Given the description of an element on the screen output the (x, y) to click on. 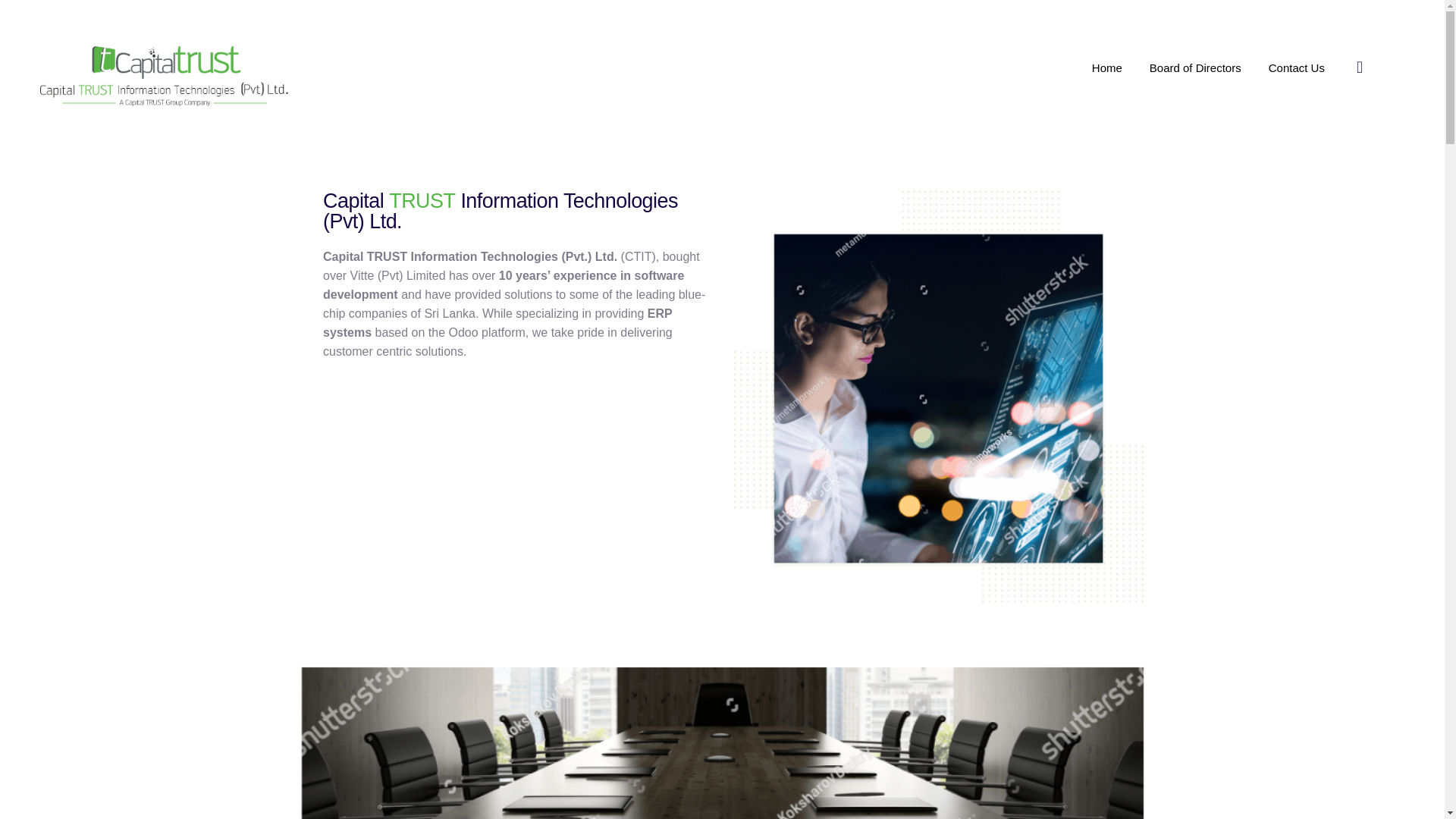
Home (1106, 67)
Board of Directors (1195, 67)
Contact Us (1296, 67)
